Given the description of an element on the screen output the (x, y) to click on. 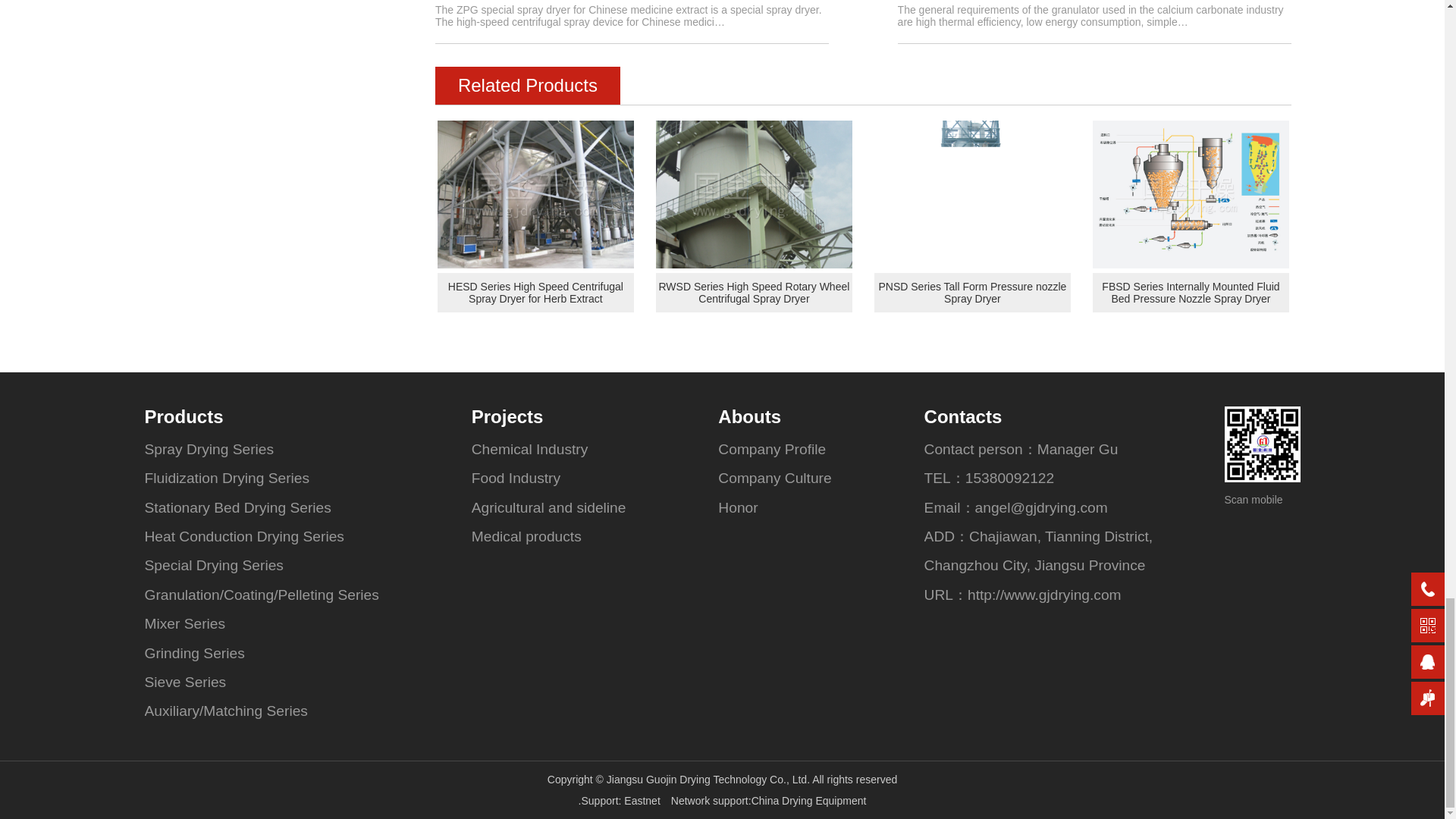
PNSD Series Tall Form Pressure nozzle Spray Dryer (971, 292)
RWSD Series High Speed Rotary Wheel Centrifugal Spray Dryer (753, 292)
